Given the description of an element on the screen output the (x, y) to click on. 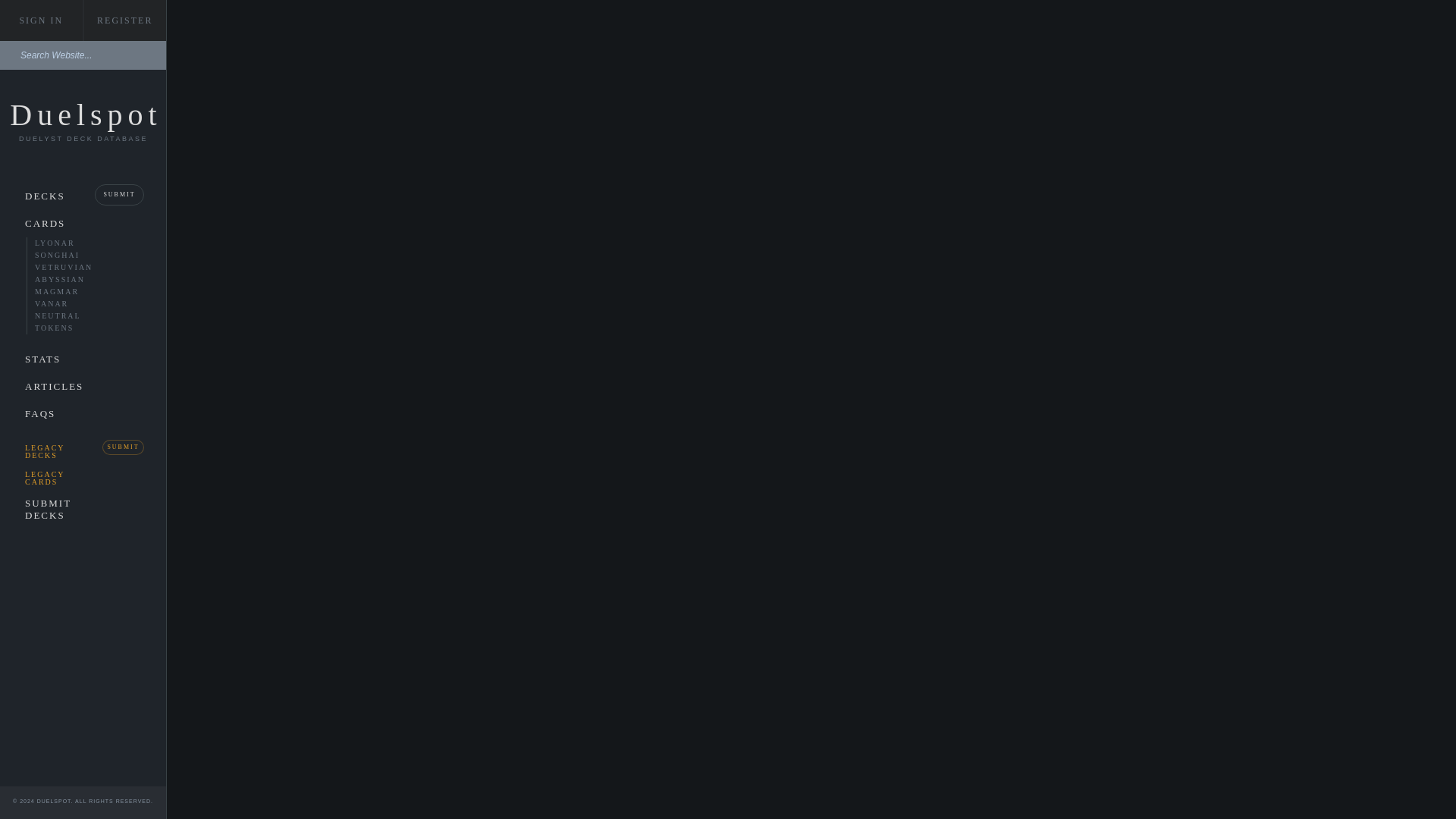
FAQS (47, 413)
NEUTRAL (67, 315)
SONGHAI (67, 254)
REGISTER (124, 20)
VETRUVIAN (67, 266)
ABYSSIAN (67, 278)
STATS (82, 359)
MAGMAR (67, 291)
Duelspot (85, 114)
TOKENS (67, 327)
